Given the description of an element on the screen output the (x, y) to click on. 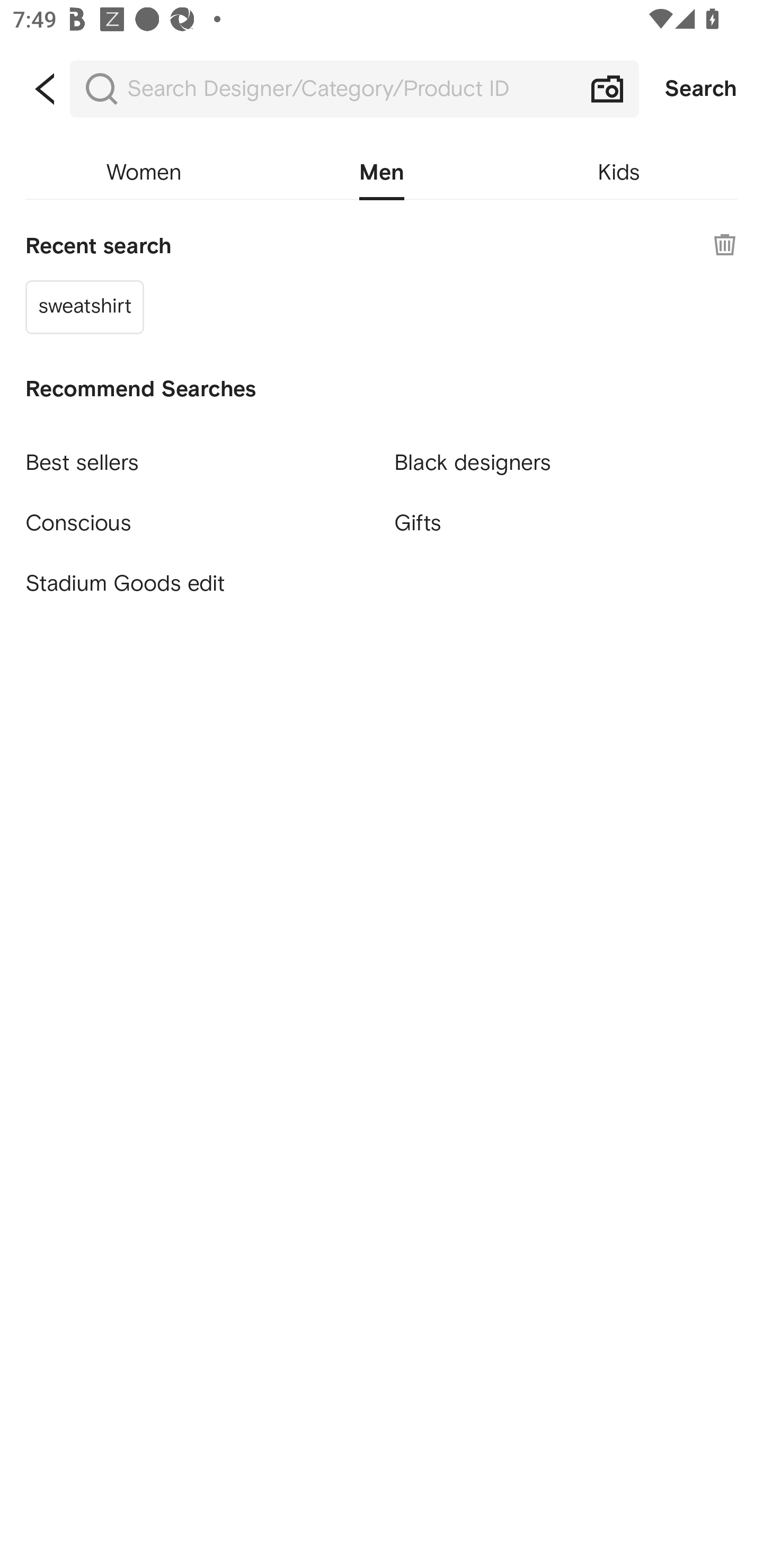
Search (701, 89)
Women (143, 172)
Kids (618, 172)
sweatshirt (84, 306)
Best sellers (196, 454)
Black designers (565, 454)
Conscious (196, 514)
Gifts (565, 522)
Stadium Goods edit (196, 583)
